Given the description of an element on the screen output the (x, y) to click on. 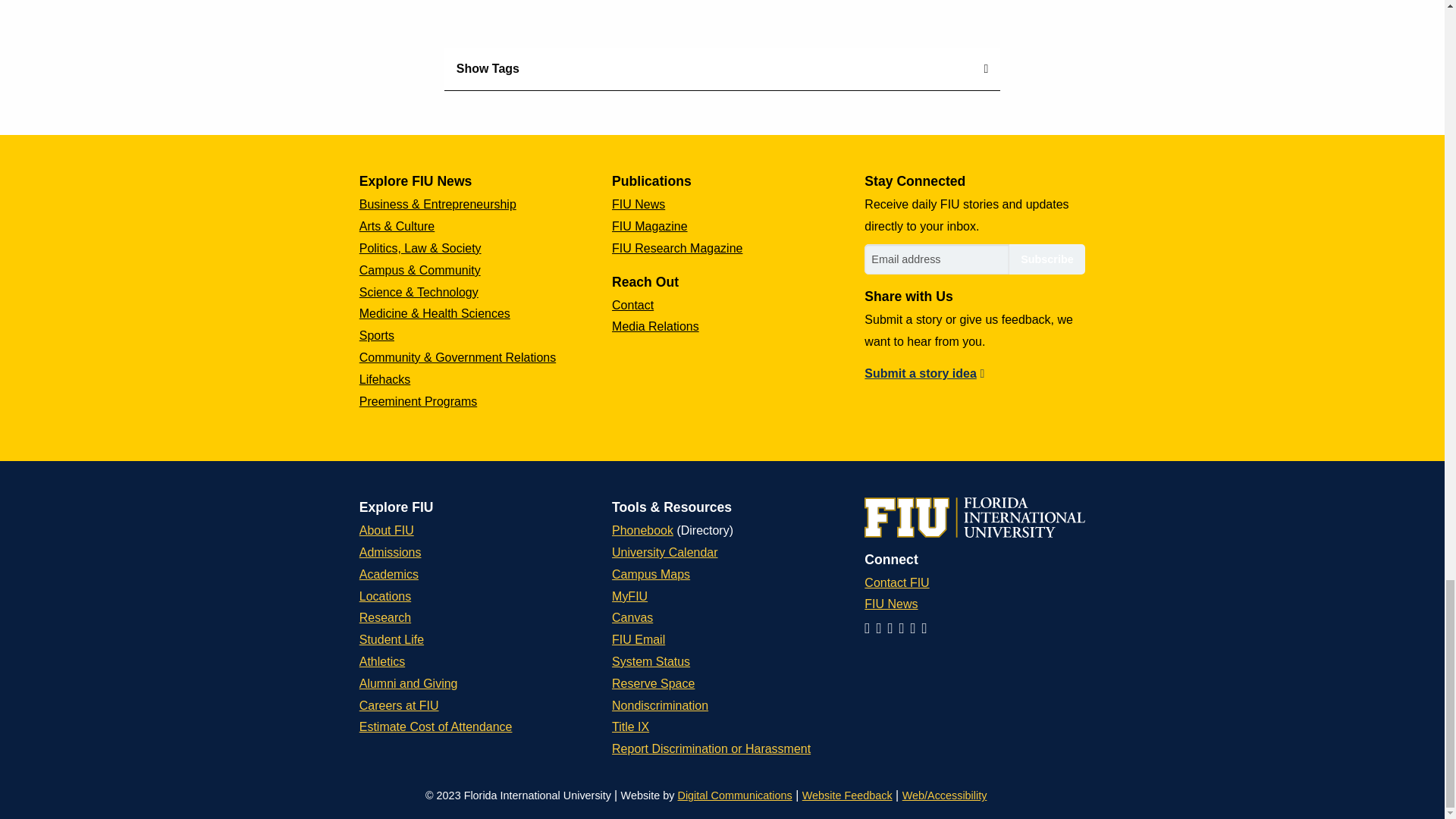
Show Tags (722, 68)
Preeminent Programs (418, 400)
Subscribe (1046, 259)
Sports (376, 335)
Lifehacks (384, 379)
